Given the description of an element on the screen output the (x, y) to click on. 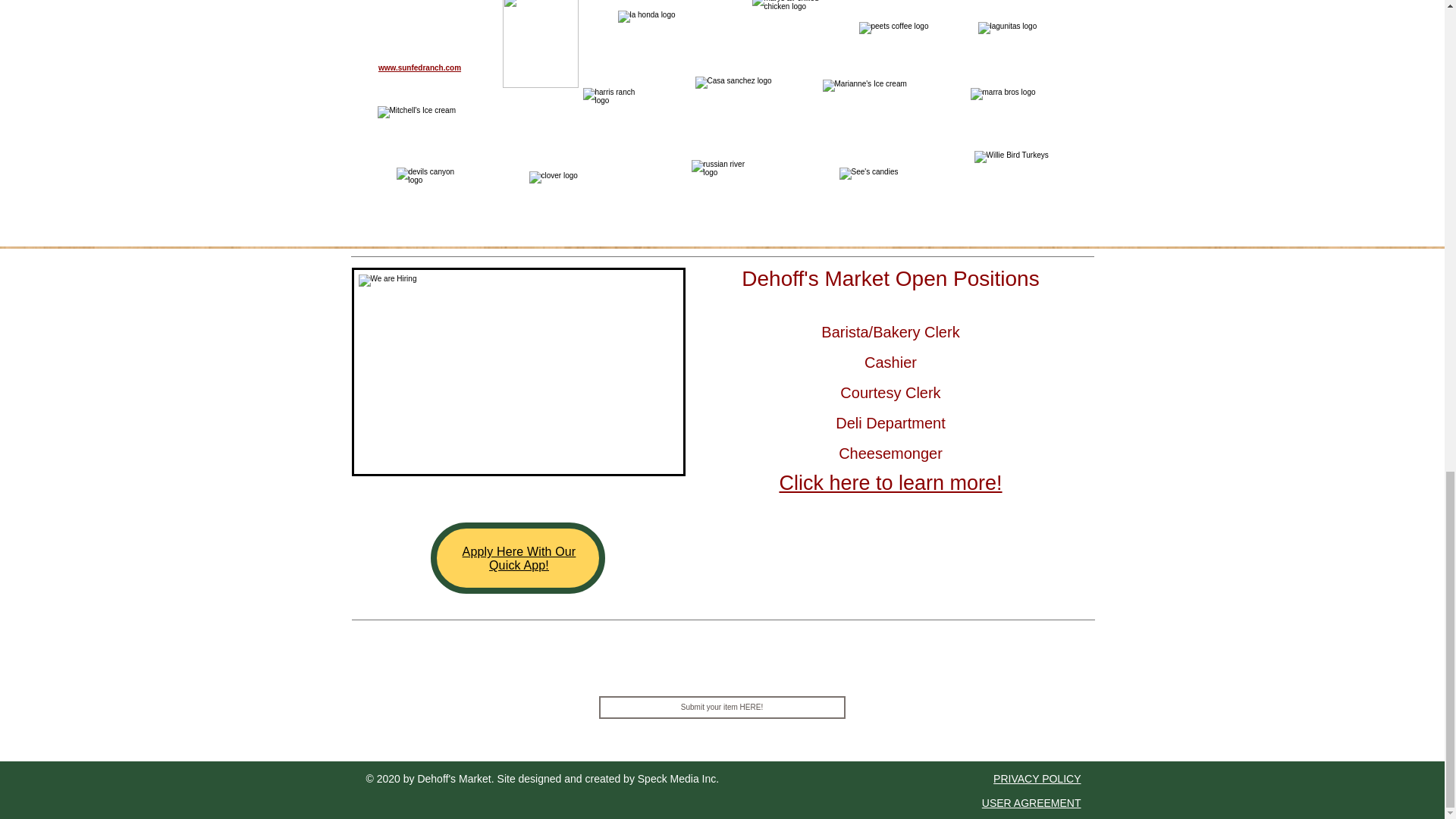
www.sunfedranch.com (419, 67)
PRIVACY POLICY (1036, 778)
Click here to learn more! (889, 482)
Submit your item HERE! (721, 707)
USER AGREEMENT (1031, 802)
